Given the description of an element on the screen output the (x, y) to click on. 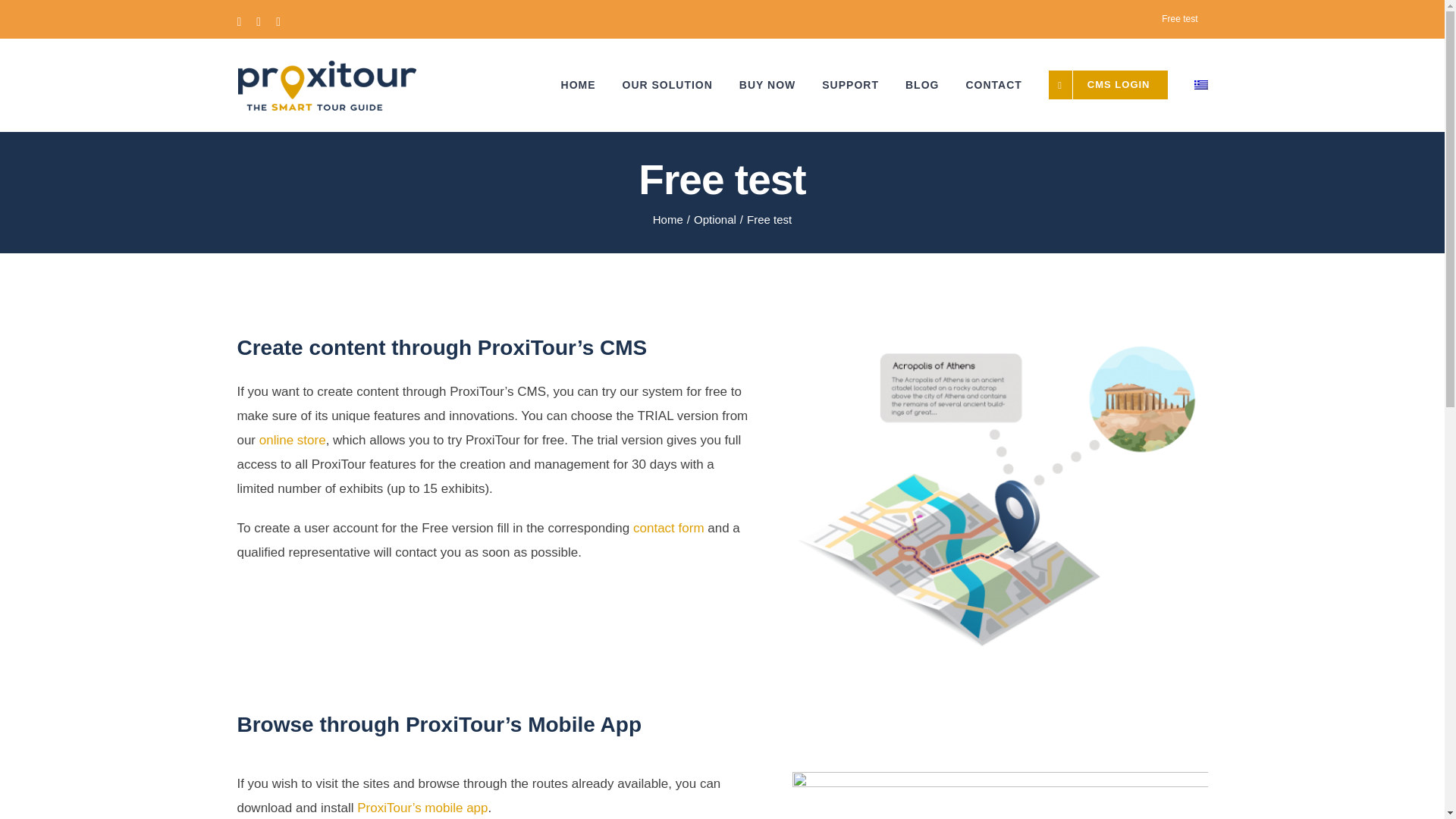
online store (292, 440)
Free test (1179, 18)
proxitour-mob-app-2 (1000, 795)
Optional (715, 219)
OUR SOLUTION (668, 84)
CMS LOGIN (1107, 84)
contact form (668, 527)
Home (667, 219)
